Given the description of an element on the screen output the (x, y) to click on. 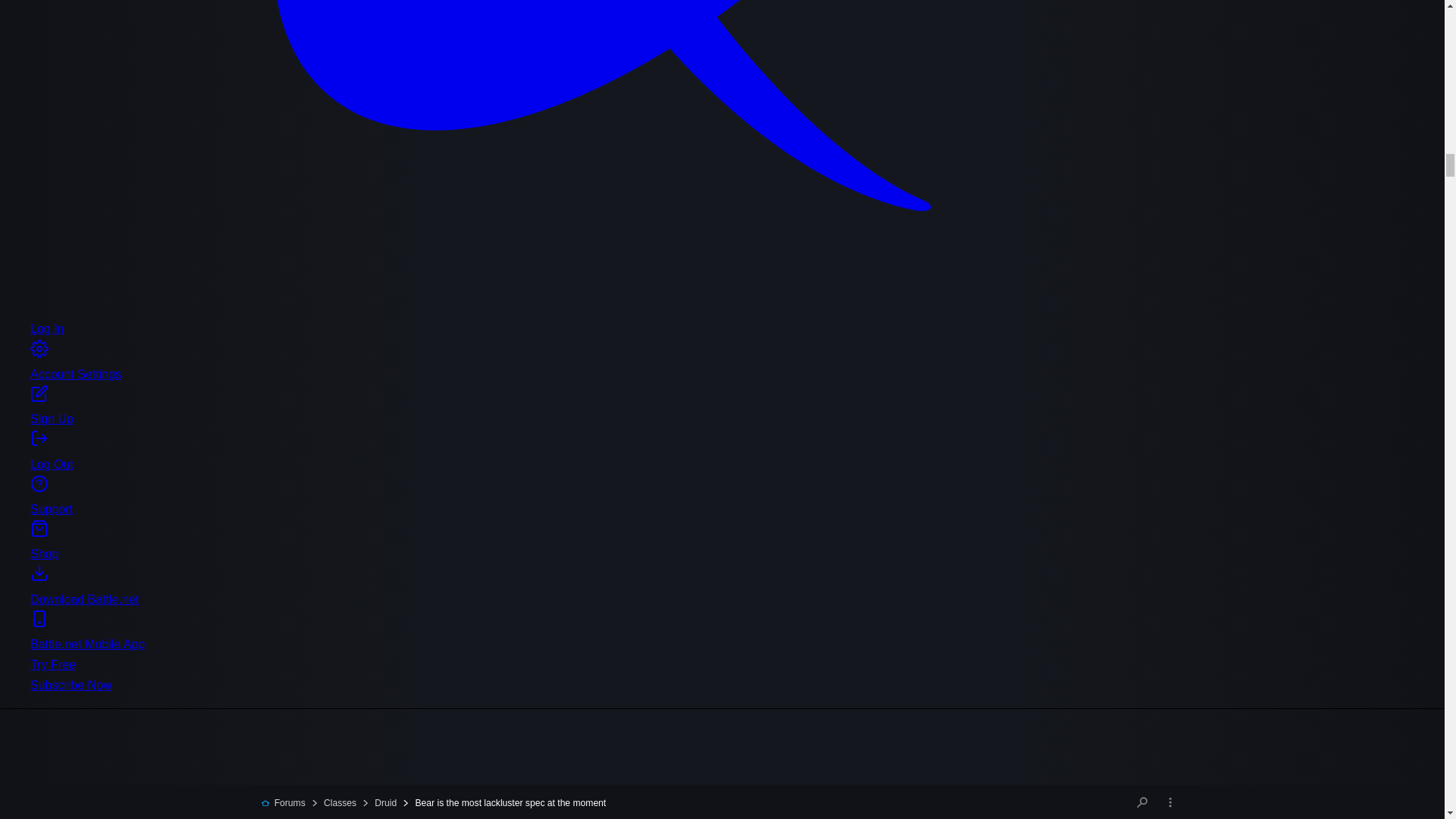
Classes (333, 802)
Druid (378, 802)
Bear is the most lackluster spec at the moment (503, 802)
Forums (282, 802)
go to another topic list or category (1170, 802)
search topics, posts, users, or categories (1142, 802)
